Given the description of an element on the screen output the (x, y) to click on. 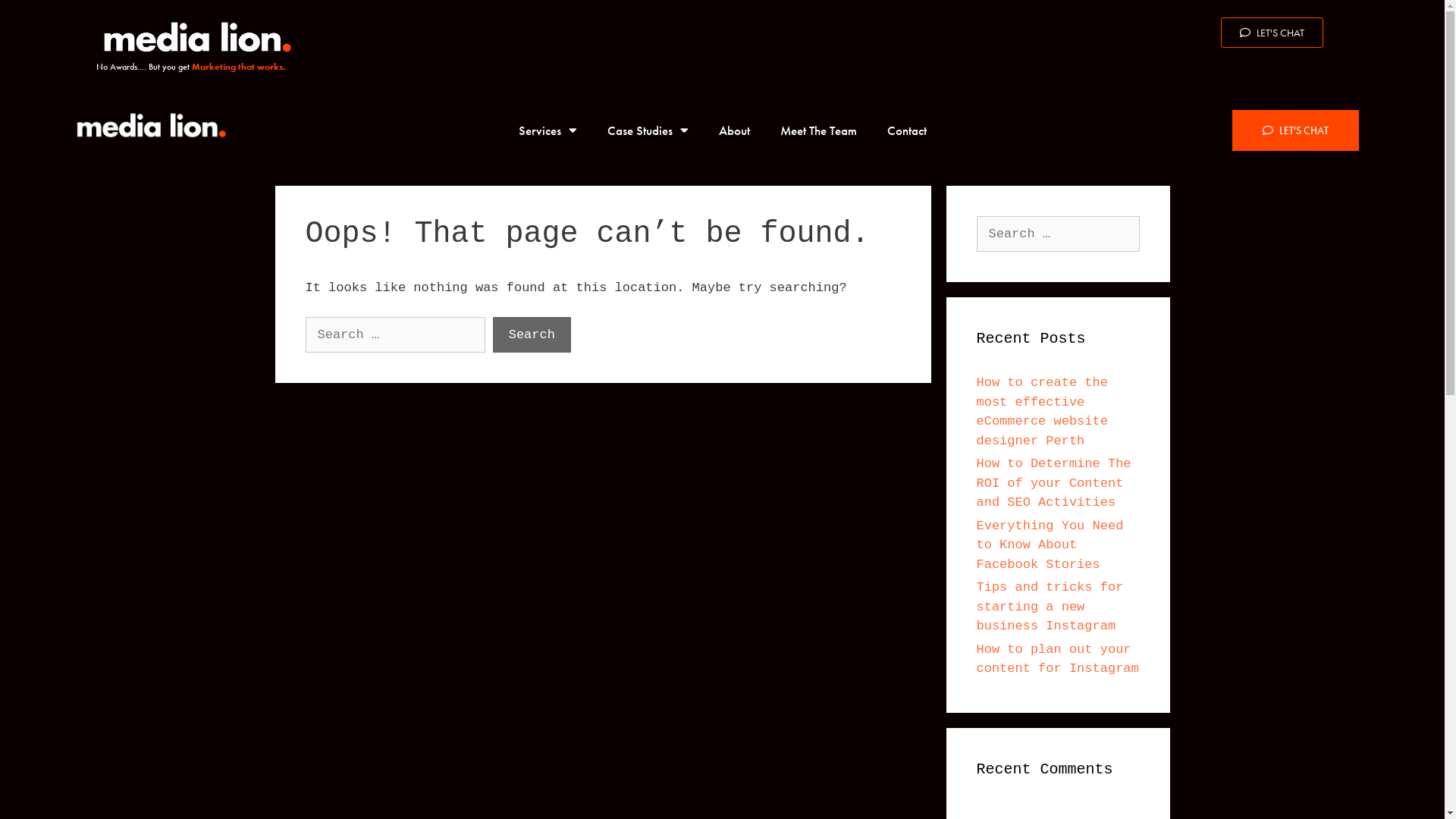
How to plan out your content for Instagram Element type: text (1057, 659)
Search for: Element type: hover (1057, 234)
Services Element type: text (547, 129)
Search for: Element type: hover (394, 334)
How to Determine The ROI of your Content and SEO Activities Element type: text (1053, 482)
Contact Element type: text (906, 129)
Search Element type: text (531, 334)
LET'S CHAT Element type: text (1271, 32)
About Element type: text (734, 129)
Everything You Need to Know About Facebook Stories Element type: text (1049, 544)
Meet The Team Element type: text (817, 129)
LET'S CHAT Element type: text (1295, 129)
Tips and tricks for starting a new business Instagram Element type: text (1049, 606)
Case Studies Element type: text (646, 129)
Search Element type: text (39, 18)
